Given the description of an element on the screen output the (x, y) to click on. 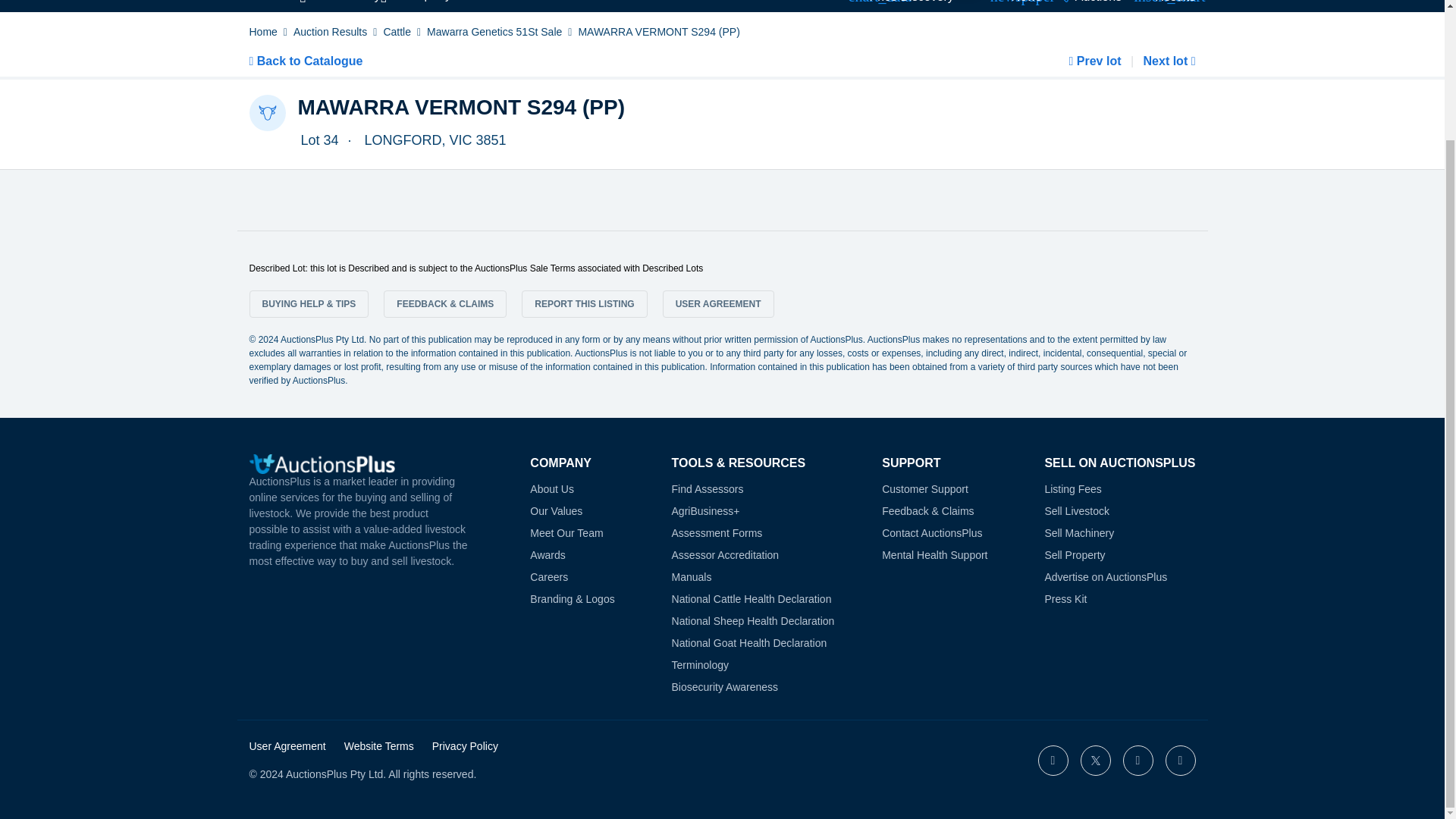
Property (428, 4)
View previous lot in auction (1096, 60)
View next lot in auction (1167, 60)
